Given the description of an element on the screen output the (x, y) to click on. 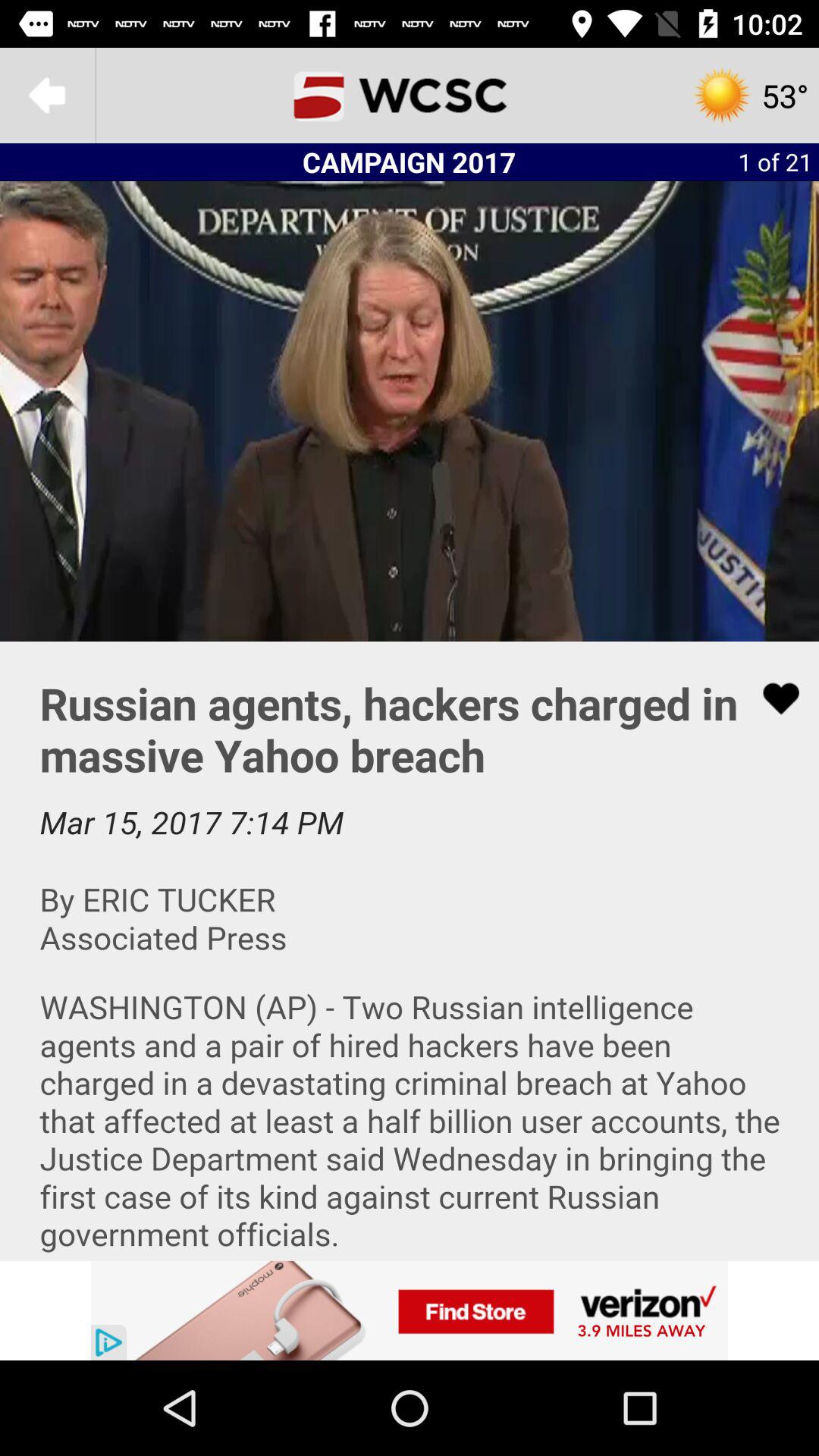
news article (409, 950)
